Given the description of an element on the screen output the (x, y) to click on. 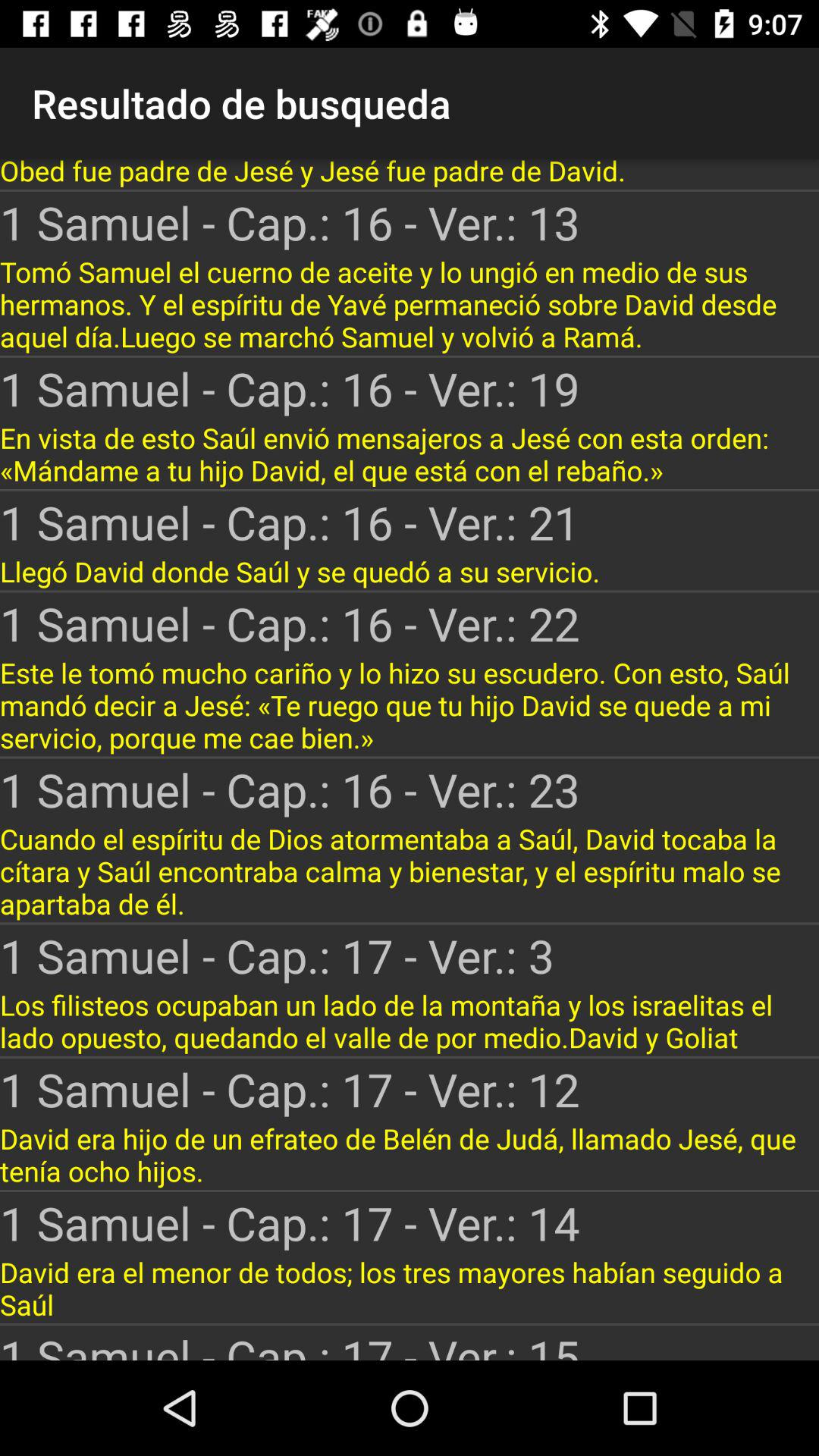
scroll to the obed fue padre (409, 174)
